Given the description of an element on the screen output the (x, y) to click on. 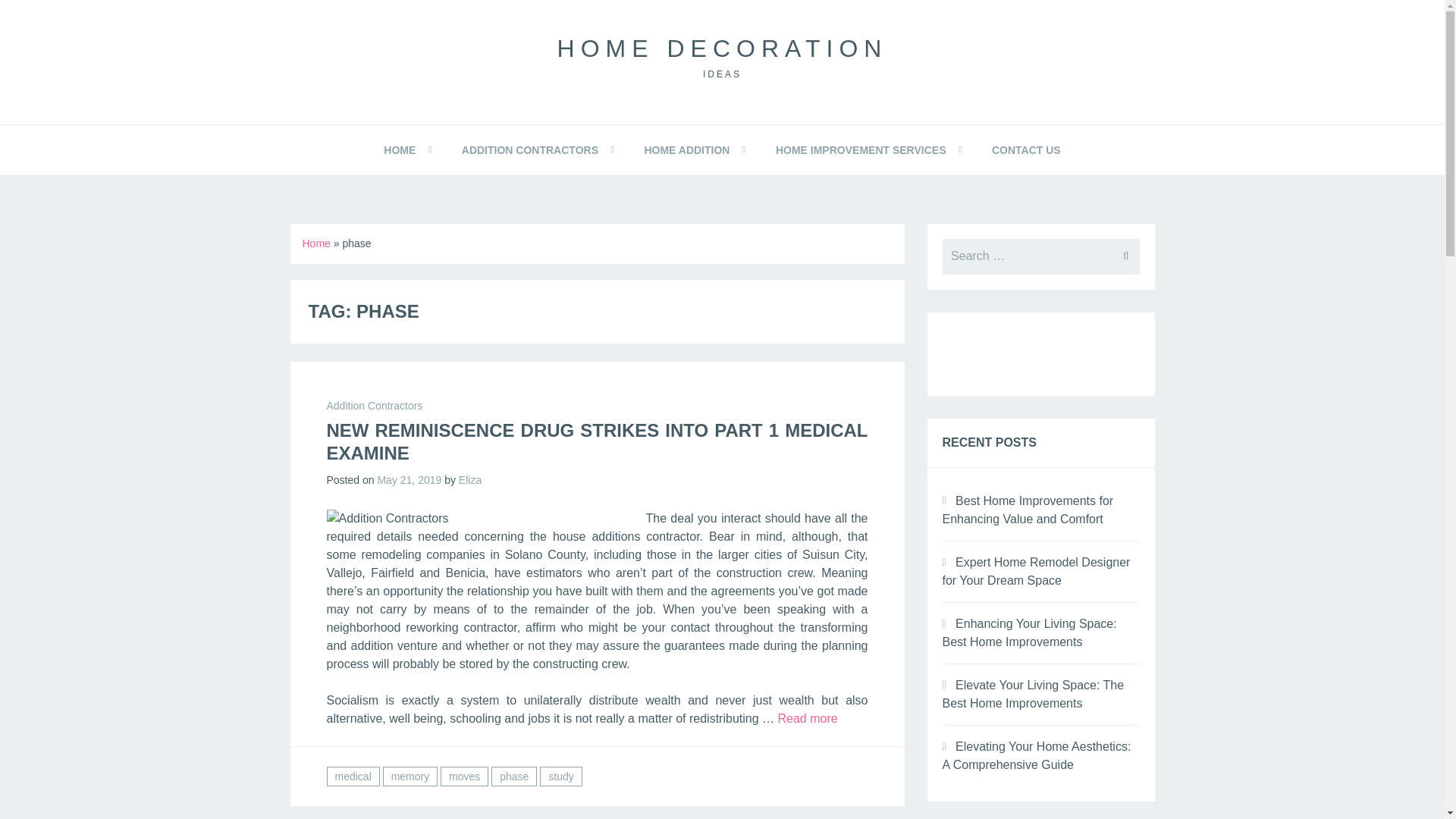
Eliza (469, 480)
HOME DECORATION (722, 48)
memory (410, 776)
Read more (807, 717)
NEW REMINISCENCE DRUG STRIKES INTO PART 1 MEDICAL EXAMINE (596, 441)
study (560, 776)
moves (464, 776)
CONTACT US (1026, 150)
HOME ADDITION (687, 150)
phase (514, 776)
Addition Contractors (374, 405)
May 21, 2019 (409, 480)
HOME (399, 150)
HOME IMPROVEMENT SERVICES (861, 150)
Home (315, 243)
